Given the description of an element on the screen output the (x, y) to click on. 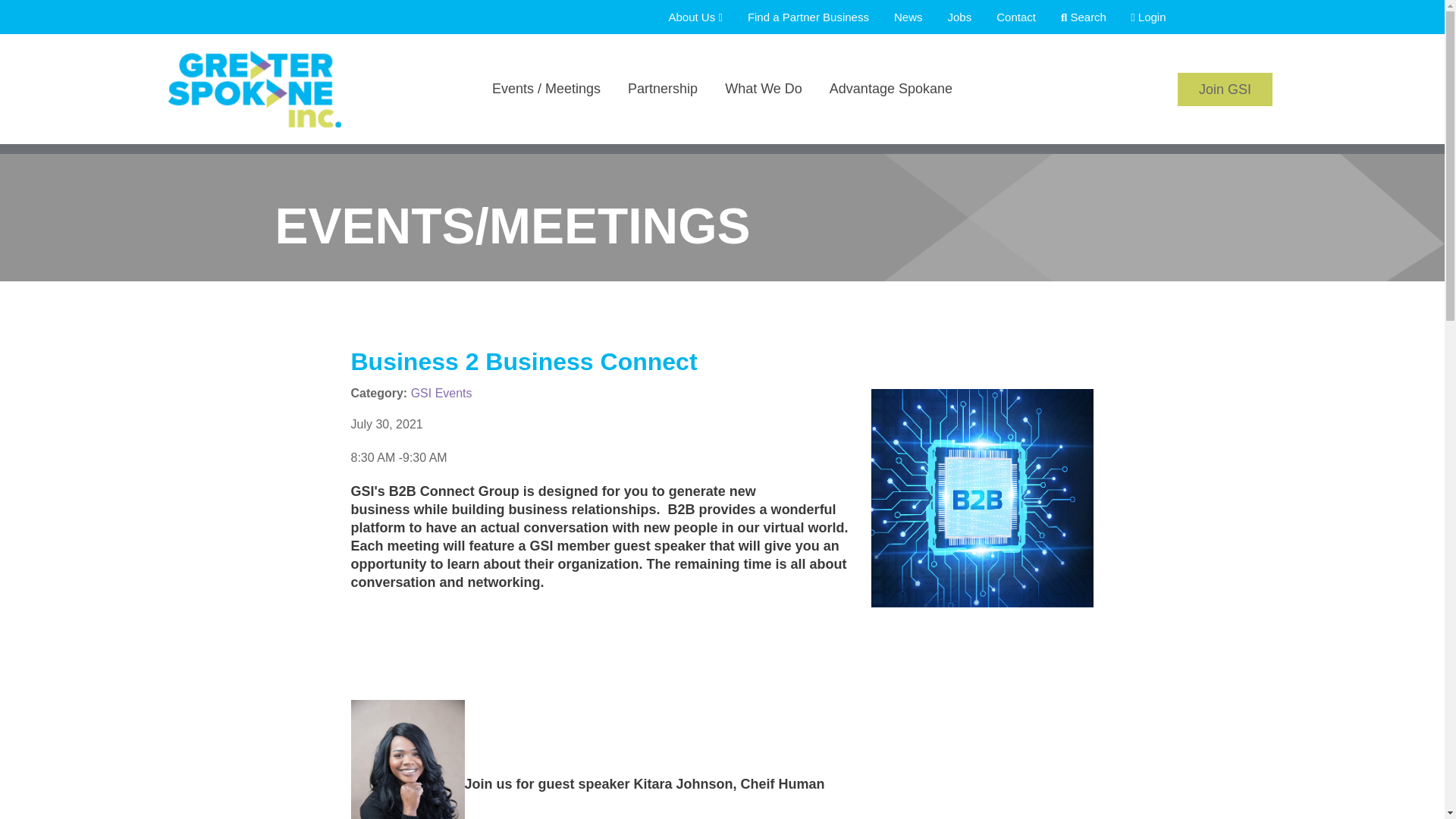
Contact (1005, 16)
Partnership (662, 109)
News (897, 16)
What We Do (763, 109)
Login (1137, 16)
Search (1074, 16)
About Us (684, 16)
Jobs (949, 16)
Find a Partner Business (797, 16)
